Given the description of an element on the screen output the (x, y) to click on. 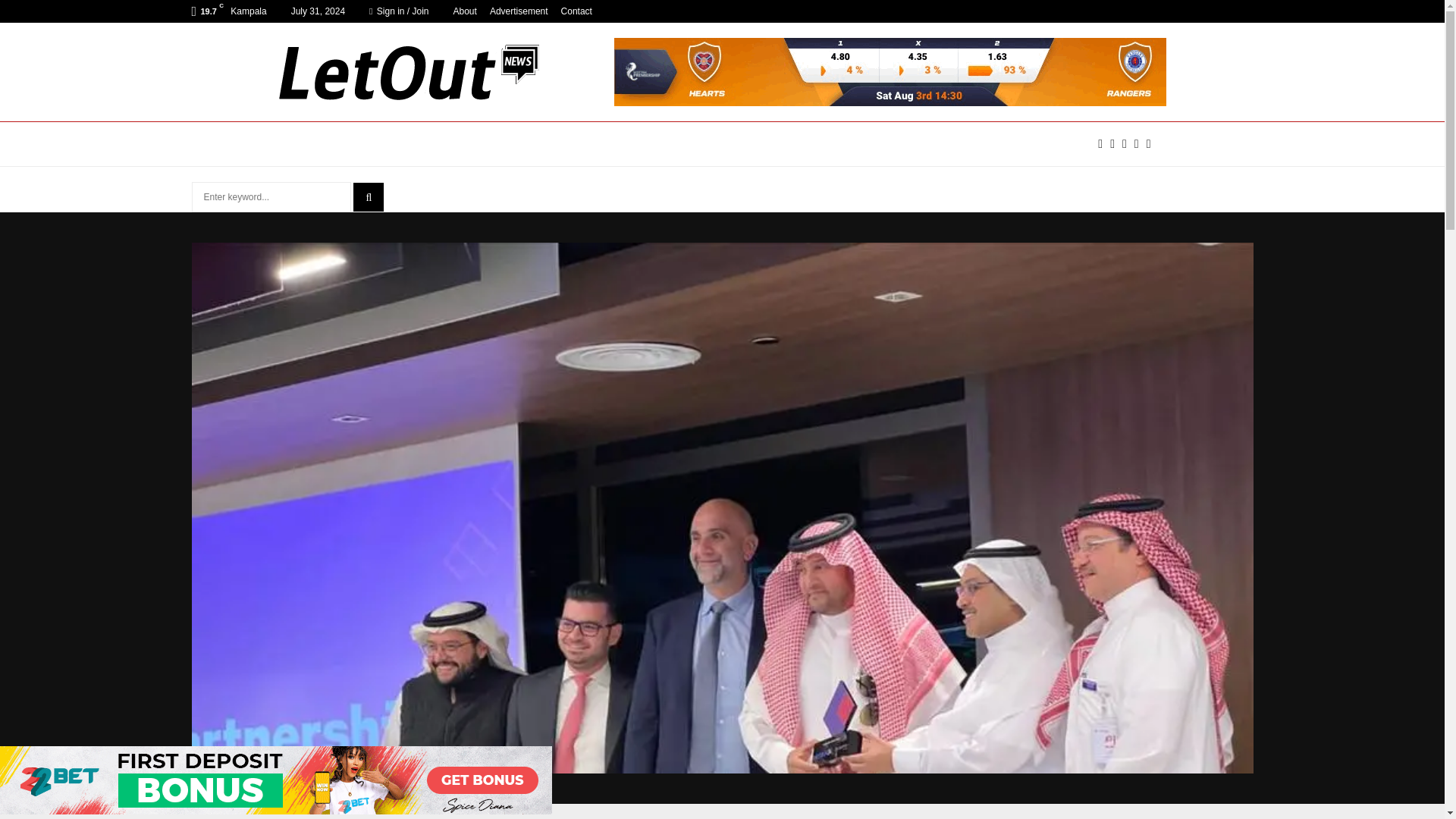
Contact (576, 11)
SEARCH (368, 196)
Login to your account (722, 293)
Sign up new account (722, 415)
BUSINESS (473, 144)
CELEBRITY NEWS (576, 144)
Business (511, 817)
SPORTS (672, 144)
HEALTH (741, 144)
Advertisement (518, 11)
LET OUT NEWS (322, 144)
About (464, 11)
Home (462, 817)
